Given the description of an element on the screen output the (x, y) to click on. 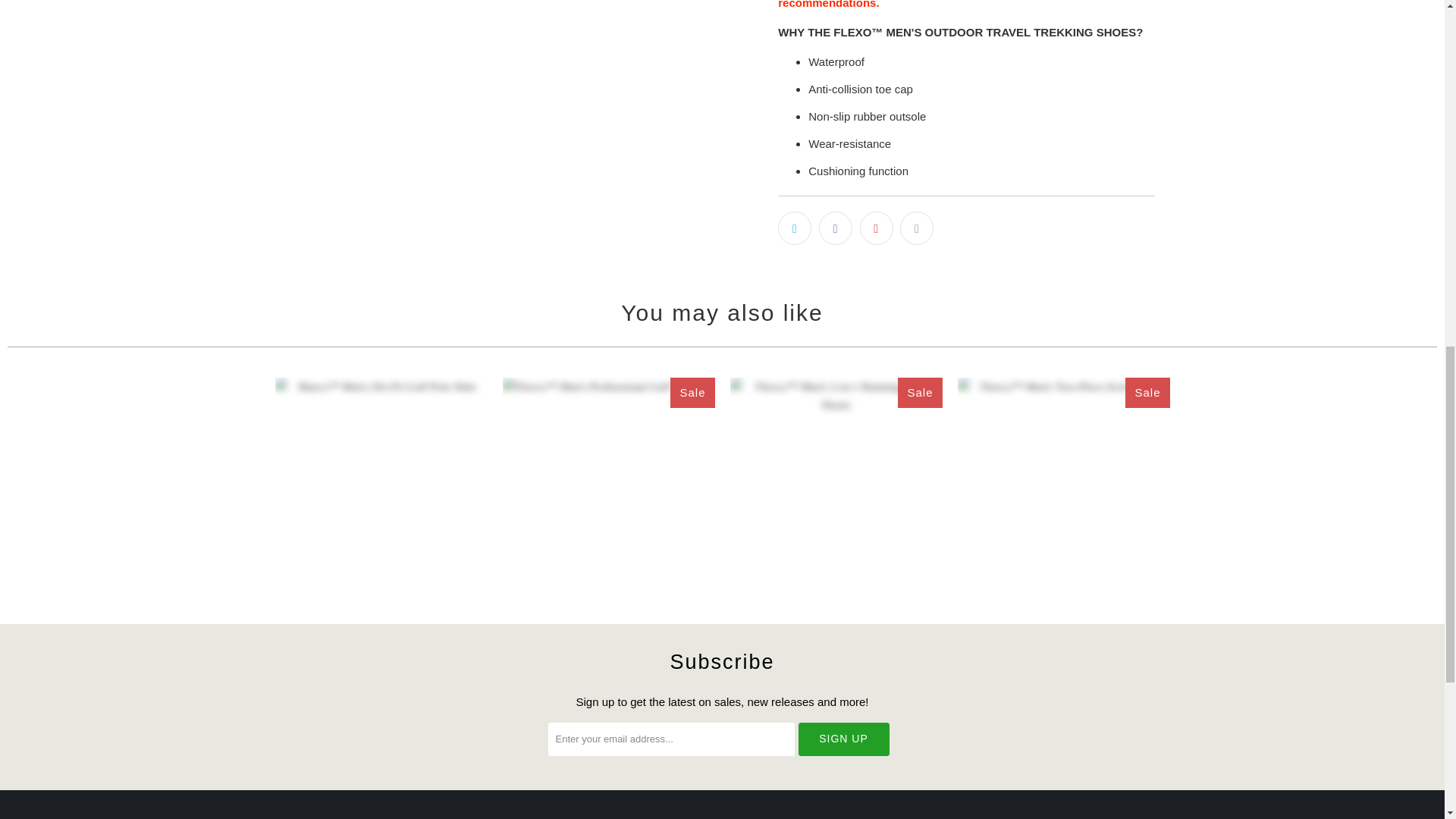
Sign Up (842, 738)
Email this to a friend (916, 227)
Share this on Twitter (793, 227)
Share this on Facebook (834, 227)
Share this on Pinterest (876, 227)
